Given the description of an element on the screen output the (x, y) to click on. 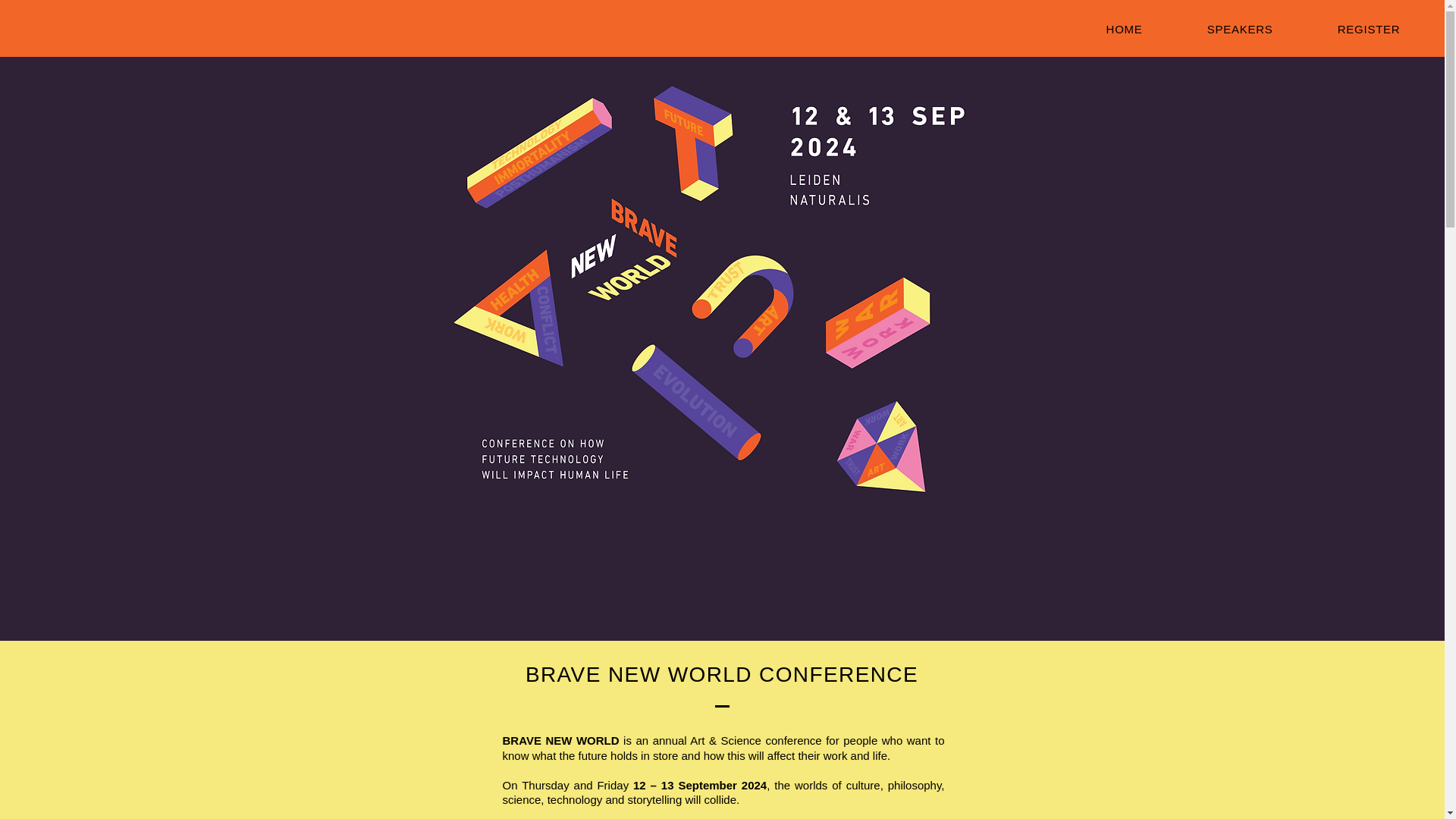
SPEAKERS (1239, 29)
REGISTER (1368, 29)
HOME (1124, 29)
